Given the description of an element on the screen output the (x, y) to click on. 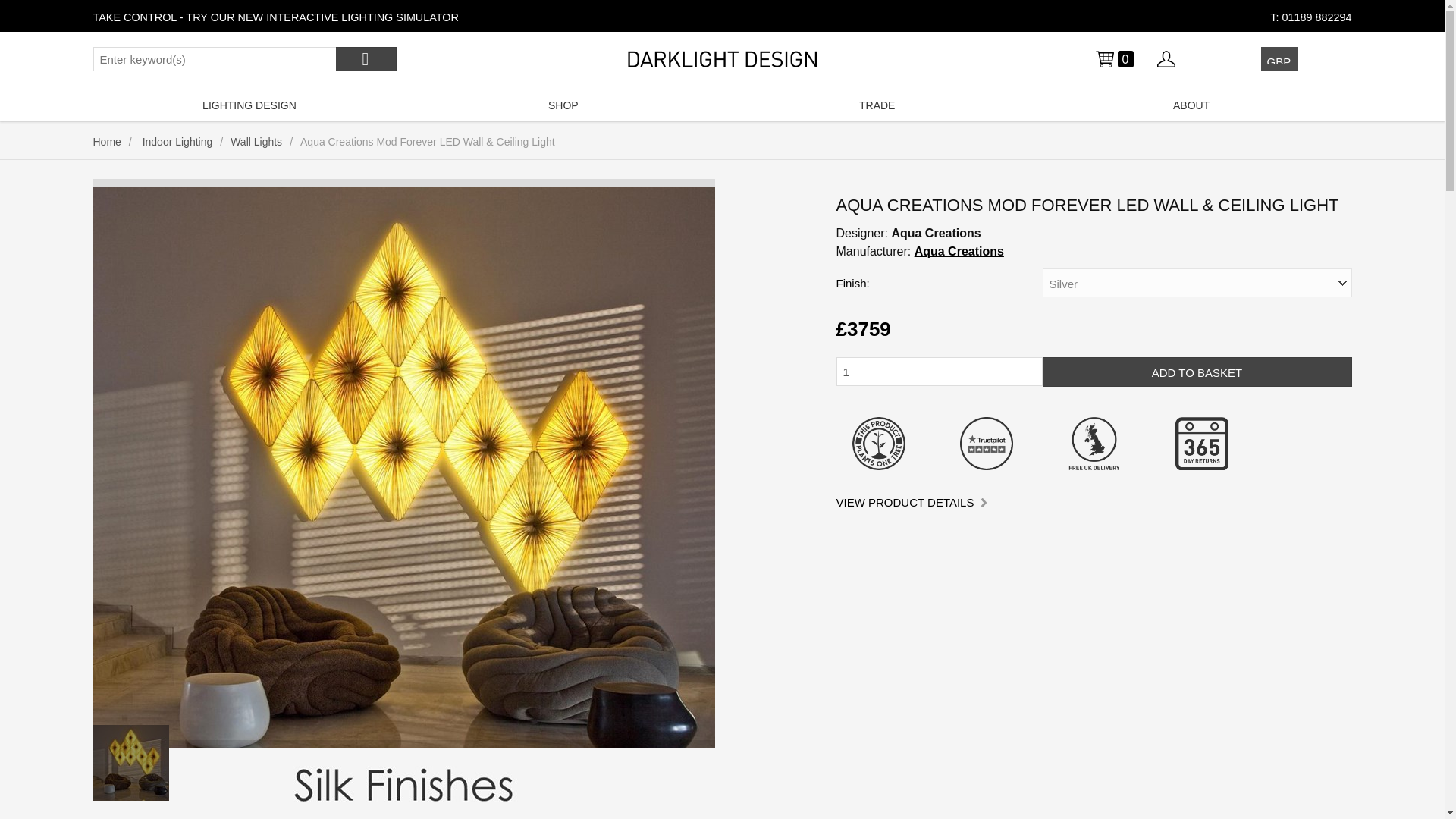
Add to basket (1196, 371)
LIGHTING DESIGN (249, 103)
1 (938, 371)
01189 882294 (1316, 17)
SHOP (563, 103)
TAKE CONTROL - TRY OUR NEW INTERACTIVE LIGHTING SIMULATOR (275, 17)
0 (1113, 58)
